Given the description of an element on the screen output the (x, y) to click on. 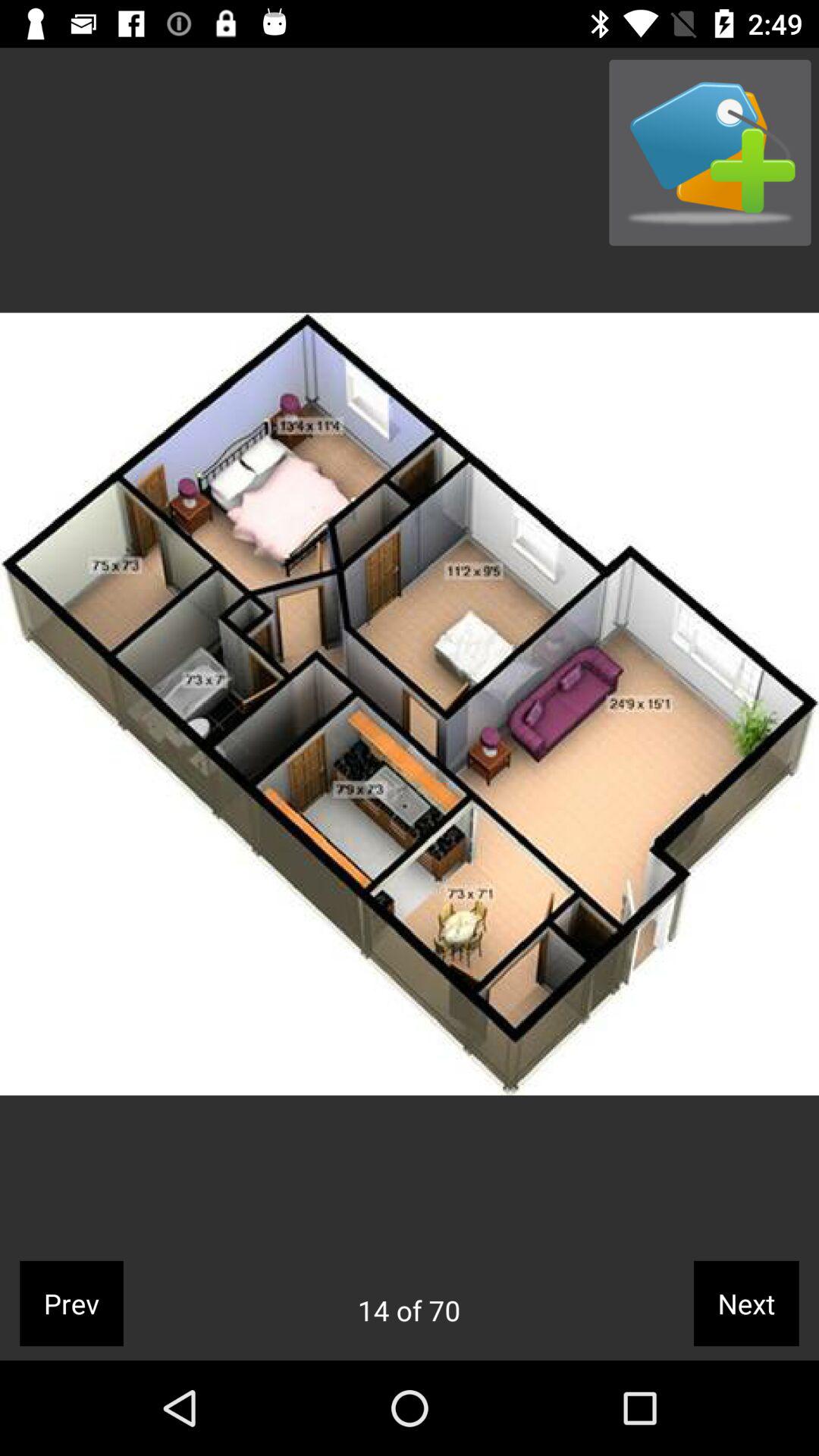
press app next to the prev app (408, 1310)
